Given the description of an element on the screen output the (x, y) to click on. 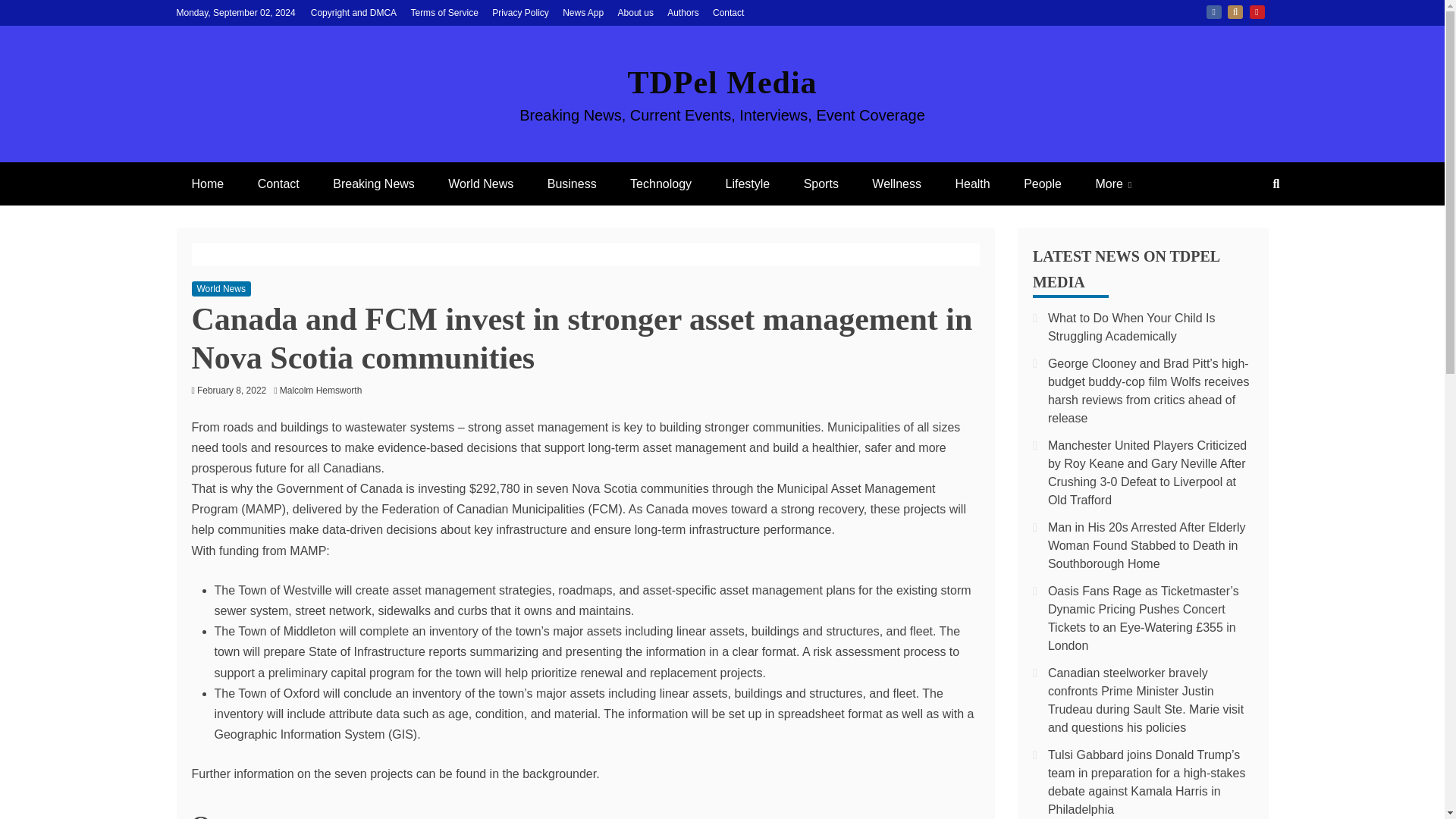
Sports (821, 183)
Technology (660, 183)
Twitter (1235, 11)
Contact (278, 183)
Copyright and DMCA (353, 12)
TDPel Media (721, 82)
People (1043, 183)
More (1113, 183)
Terms of Service (443, 12)
Lifestyle (747, 183)
